Given the description of an element on the screen output the (x, y) to click on. 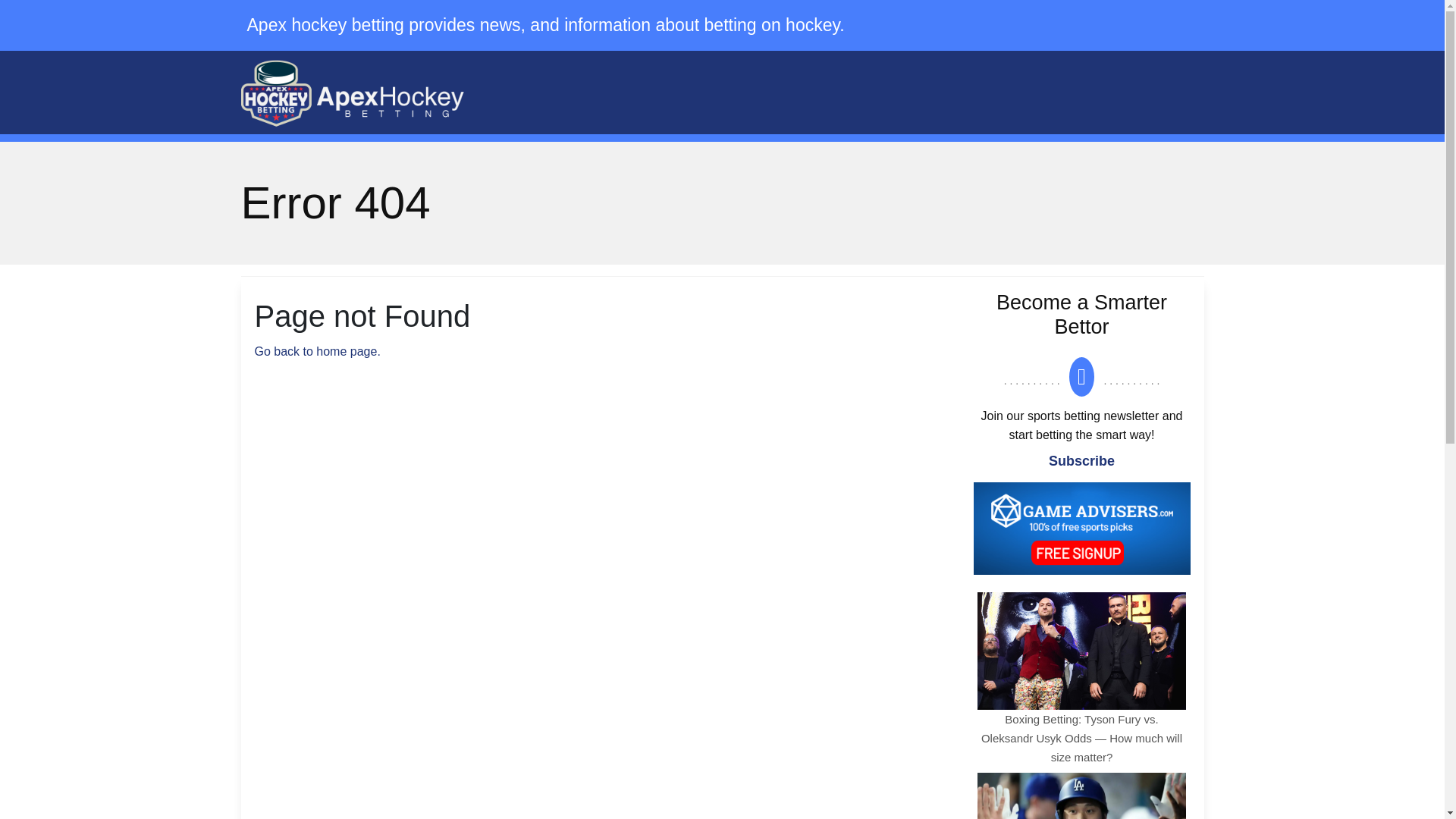
Subscribe (1081, 460)
Go back to home page. (317, 350)
